Given the description of an element on the screen output the (x, y) to click on. 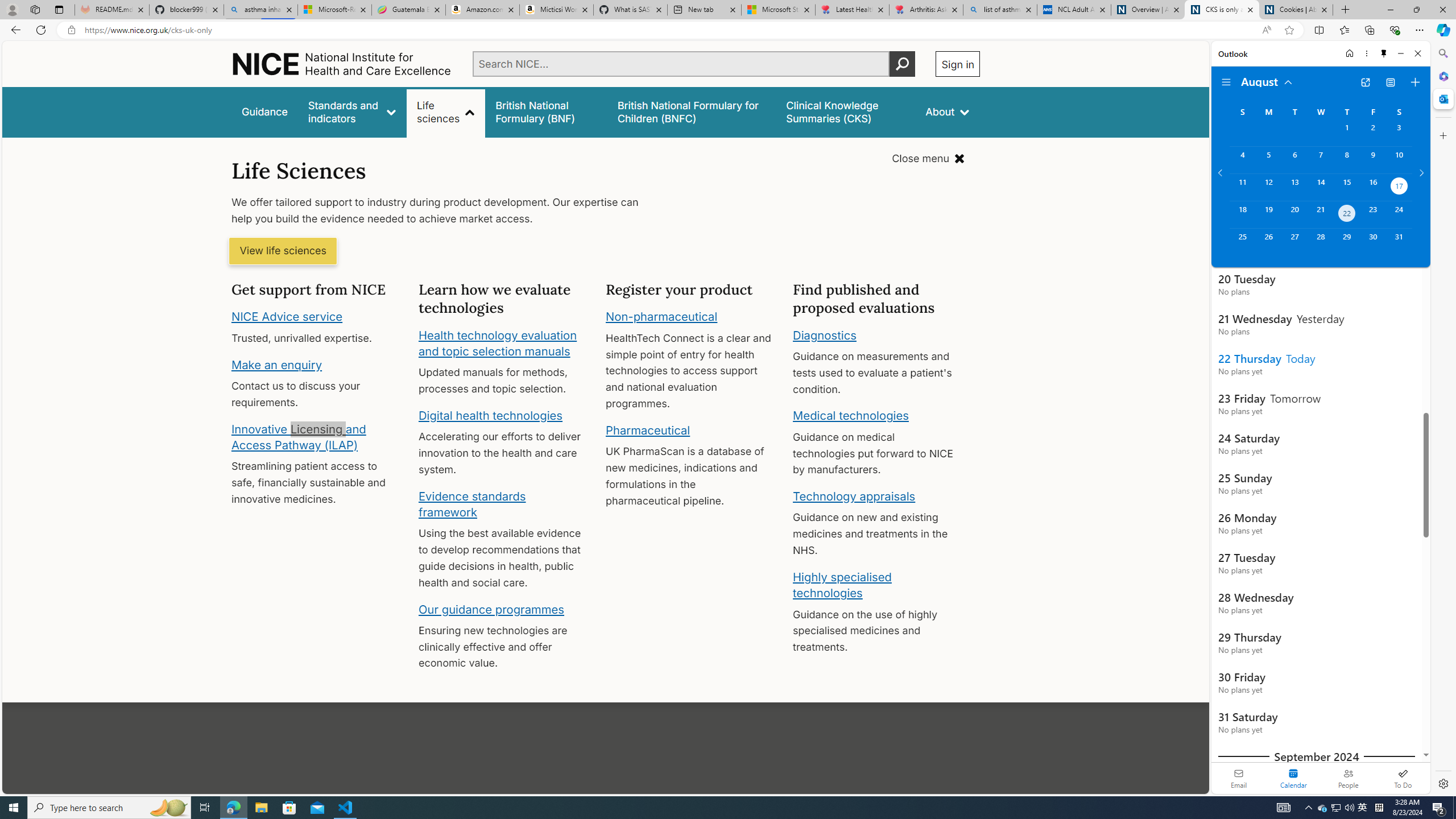
Wednesday, August 7, 2024.  (1320, 159)
Thursday, August 29, 2024.  (1346, 241)
Unpin side pane (1383, 53)
Life sciences (446, 111)
Pharmaceutical (647, 429)
Close menu (927, 159)
British National Formulary for Children (BNFC) (691, 111)
Monday, August 26, 2024.  (1268, 241)
Diagnostics (824, 334)
Wednesday, August 28, 2024.  (1320, 241)
To Do (1402, 777)
